Given the description of an element on the screen output the (x, y) to click on. 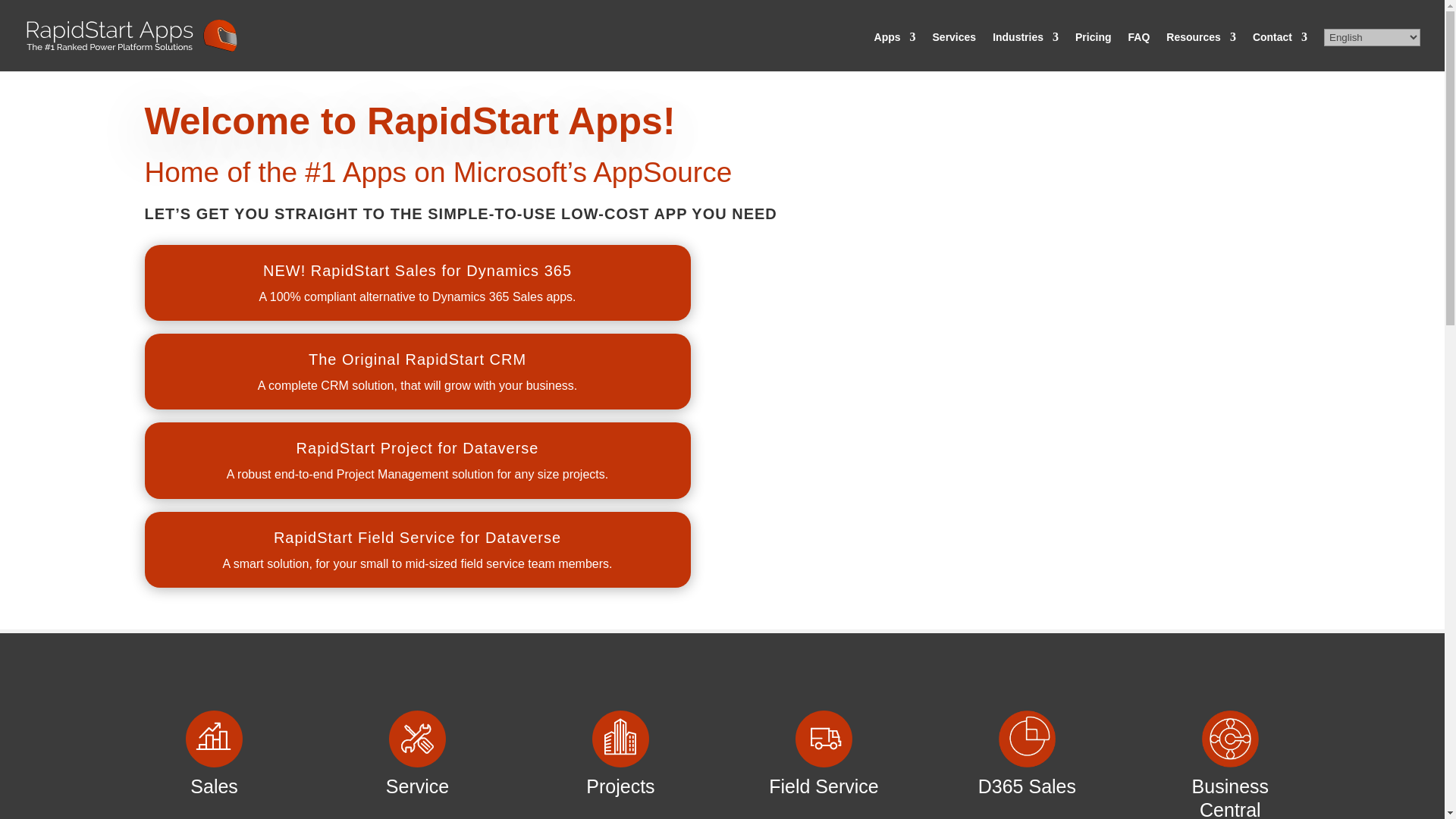
Contact (1279, 51)
Industries (1025, 51)
Resources (1201, 51)
serviceicon (416, 738)
projecticon (620, 738)
d365sales (1026, 738)
businesscentral (1230, 738)
Apps (895, 51)
Pricing (1092, 51)
Services (954, 51)
salesicon (214, 738)
fieldserviceicon (822, 738)
